Given the description of an element on the screen output the (x, y) to click on. 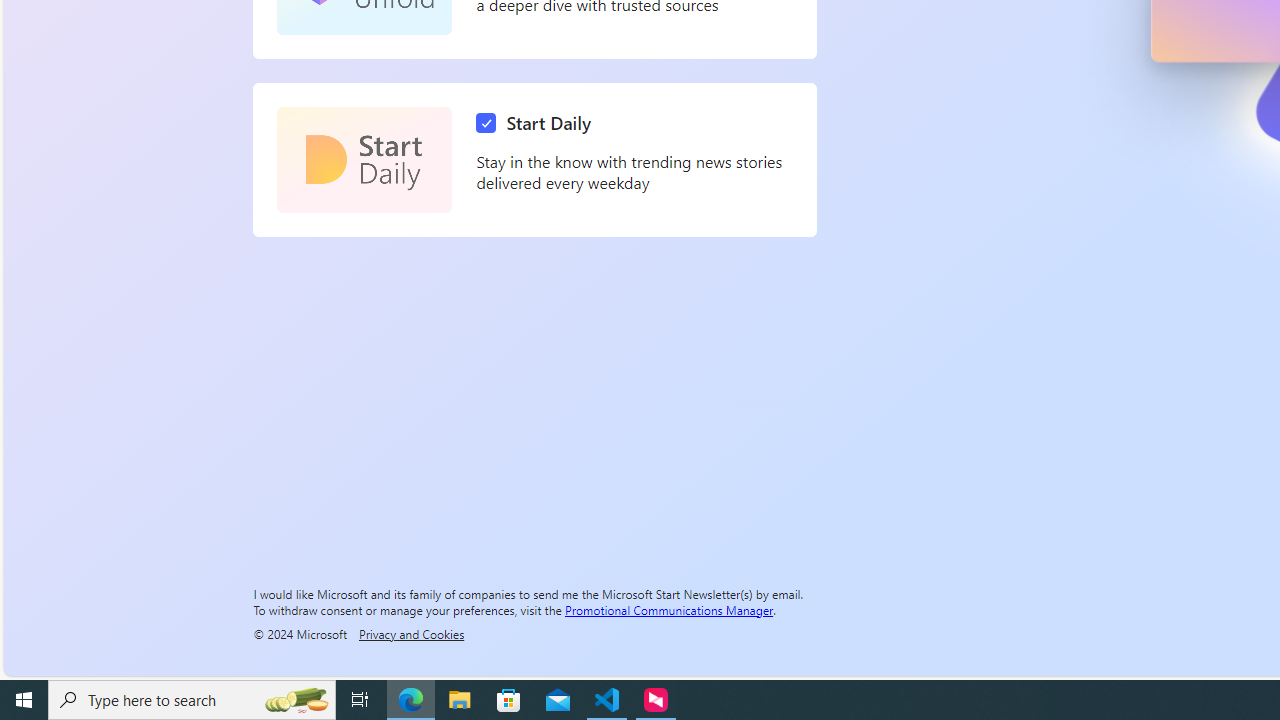
Privacy and Cookies (411, 633)
Start Daily (538, 123)
Promotional Communications Manager (669, 609)
Start Daily (364, 160)
